Given the description of an element on the screen output the (x, y) to click on. 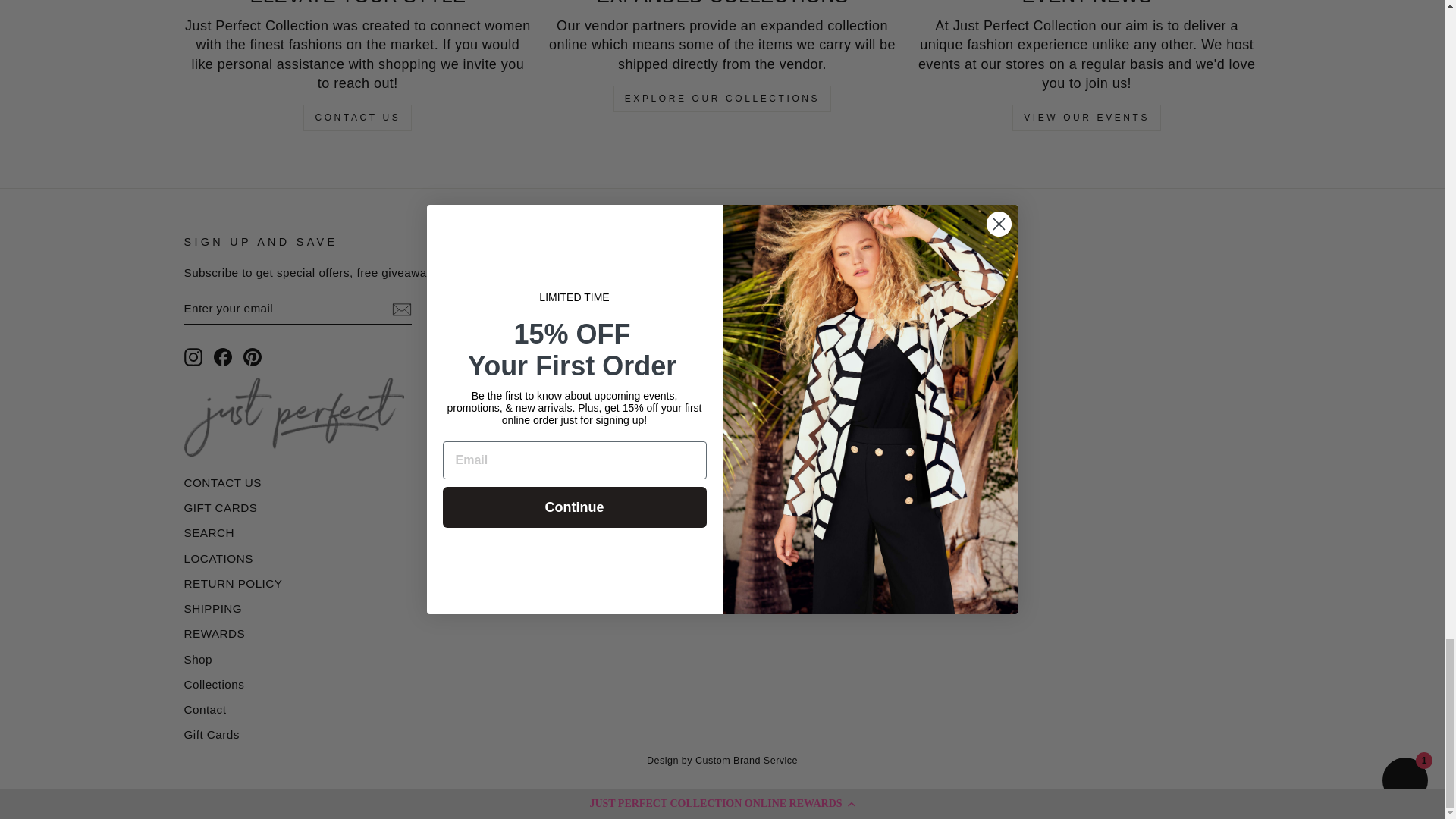
Just Perfect Collection Online on Instagram (192, 357)
Just Perfect Collection Online on Pinterest (251, 357)
Just Perfect Collection Online on Facebook (222, 357)
